Given the description of an element on the screen output the (x, y) to click on. 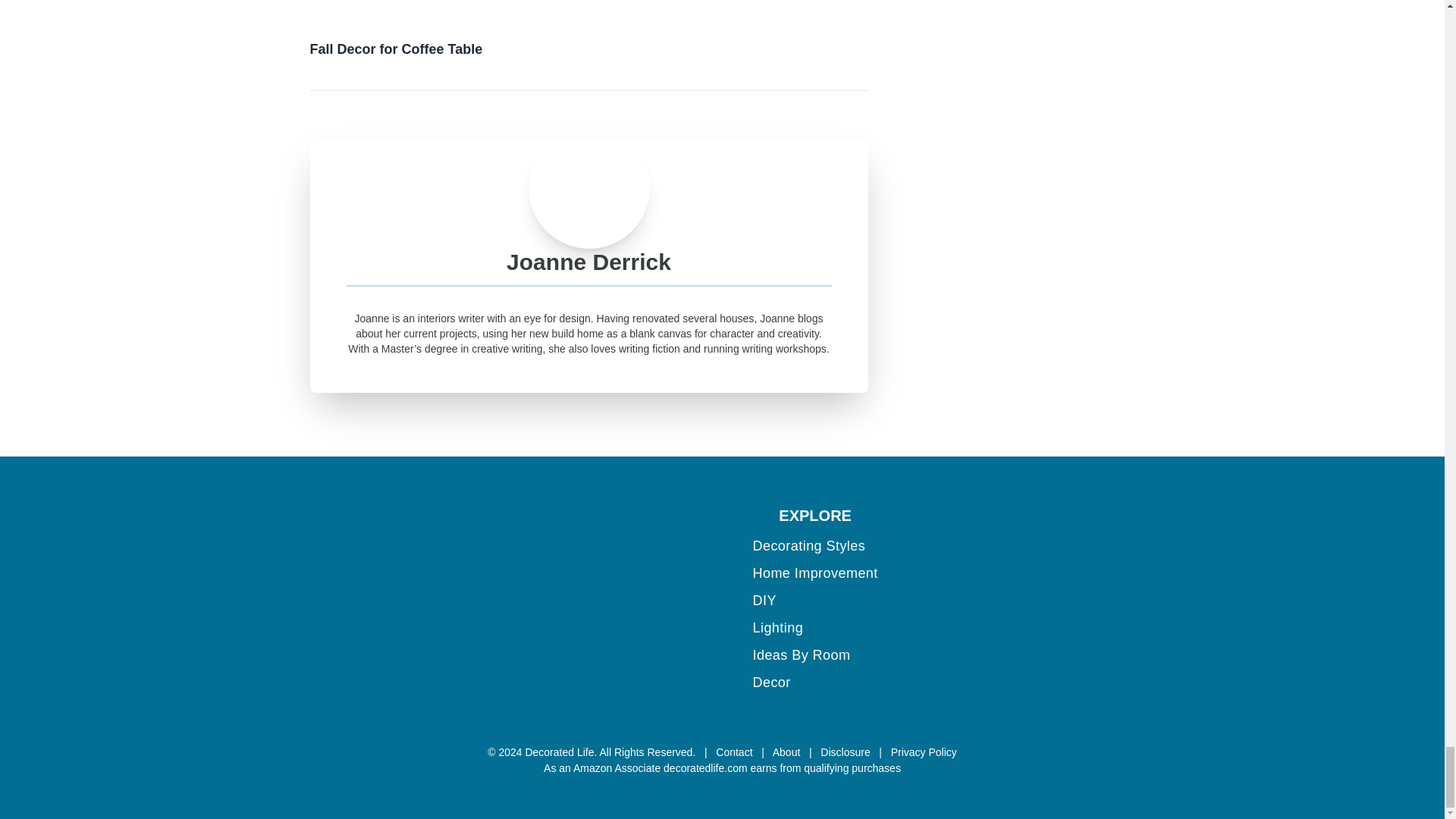
Fall Decor for Coffee Table (443, 28)
Home Improvement (814, 572)
DIY (764, 600)
Decorating Styles (808, 545)
Lighting (777, 627)
Fall Decor for Coffee Table (443, 9)
